Given the description of an element on the screen output the (x, y) to click on. 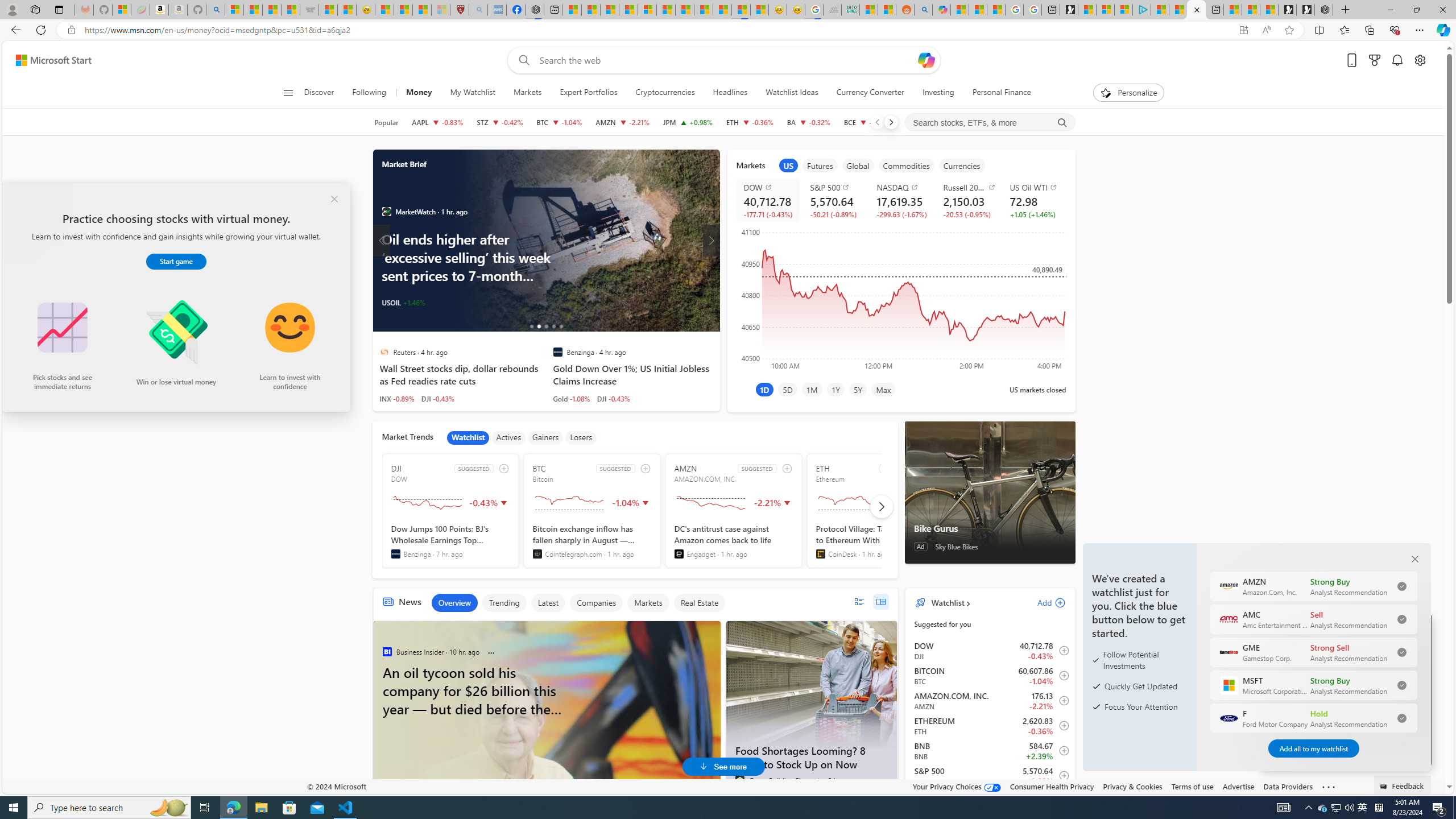
Search stocks, ETFs, & more (989, 122)
1Y (835, 389)
Class: feedback_link_icon-DS-EntryPoint1-1 (1384, 786)
Markets (527, 92)
Dow Jumps 100 Points; BJ's Wholesale Earnings Top Estimates (449, 540)
Business Insider (386, 651)
AMZN AMAZON.COM, INC. decrease 176.13 -3.98 -2.21% (622, 122)
